Given the description of an element on the screen output the (x, y) to click on. 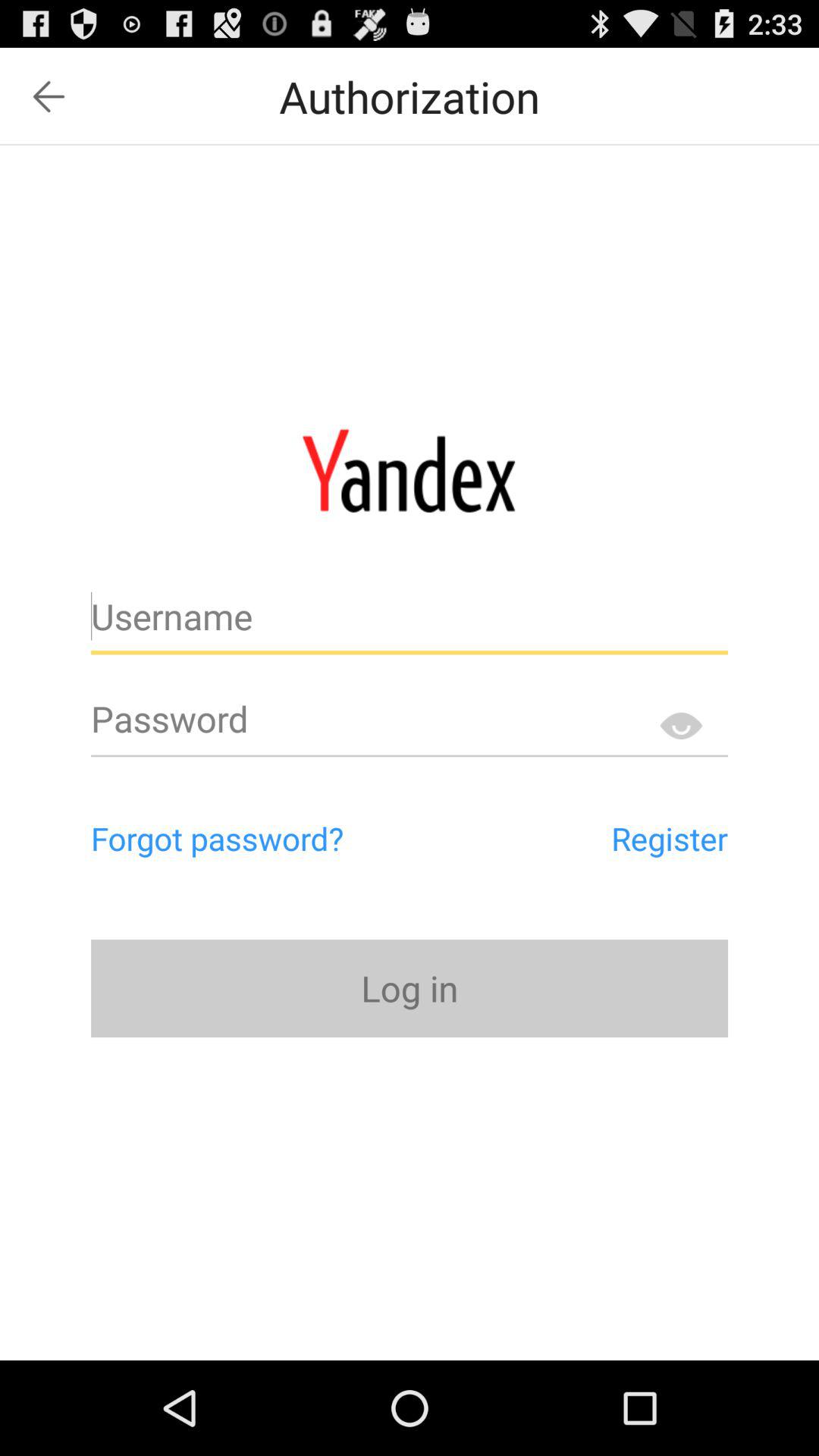
click item above the log in button (282, 837)
